Given the description of an element on the screen output the (x, y) to click on. 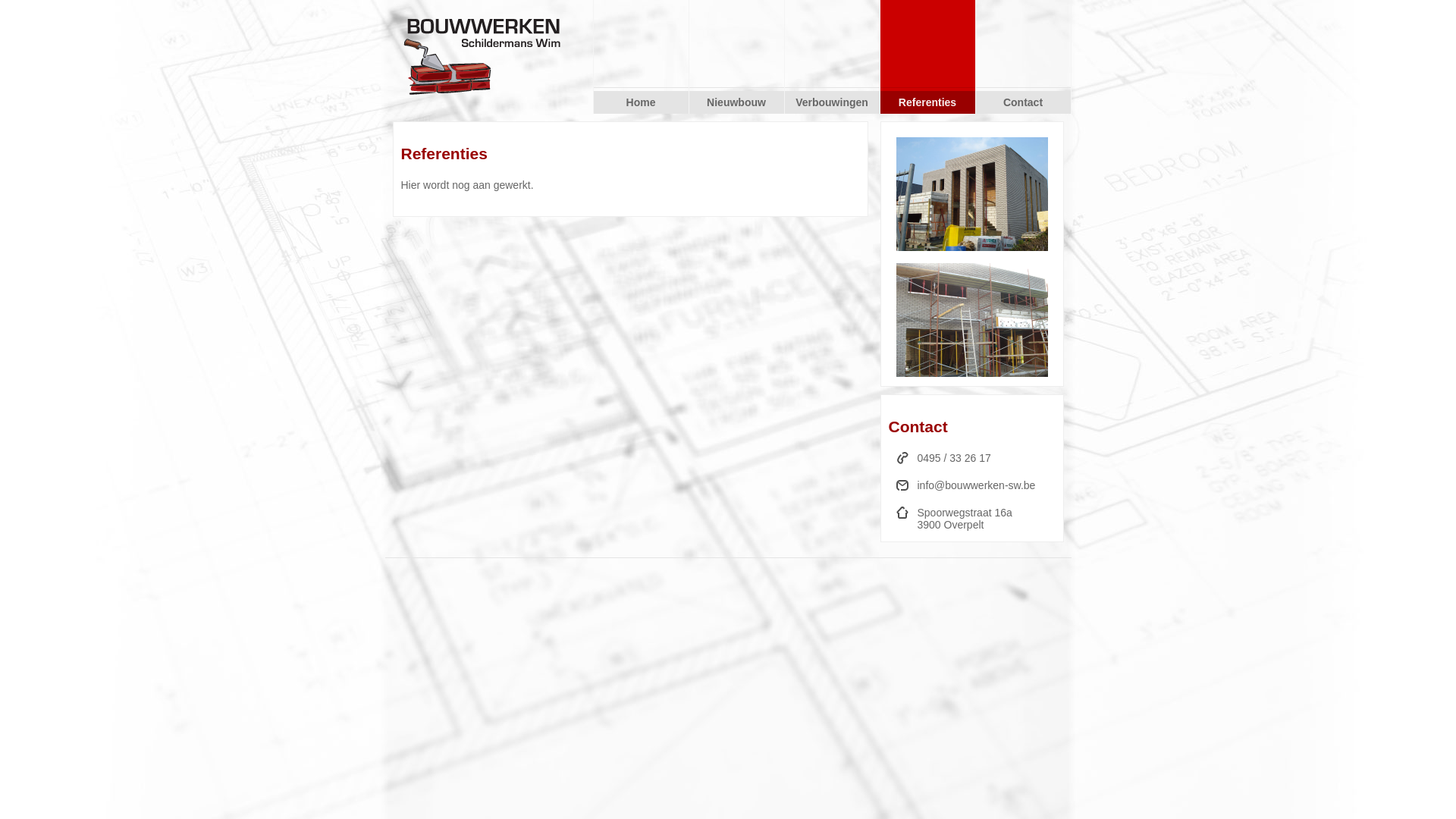
Verbouwingen Element type: text (831, 102)
Contact Element type: text (1022, 102)
Nieuwbouw Element type: text (735, 102)
Nieuwbouw Element type: hover (972, 247)
Home Element type: text (640, 102)
Referenties Element type: text (926, 102)
Nieuwbouw Element type: hover (972, 373)
